Given the description of an element on the screen output the (x, y) to click on. 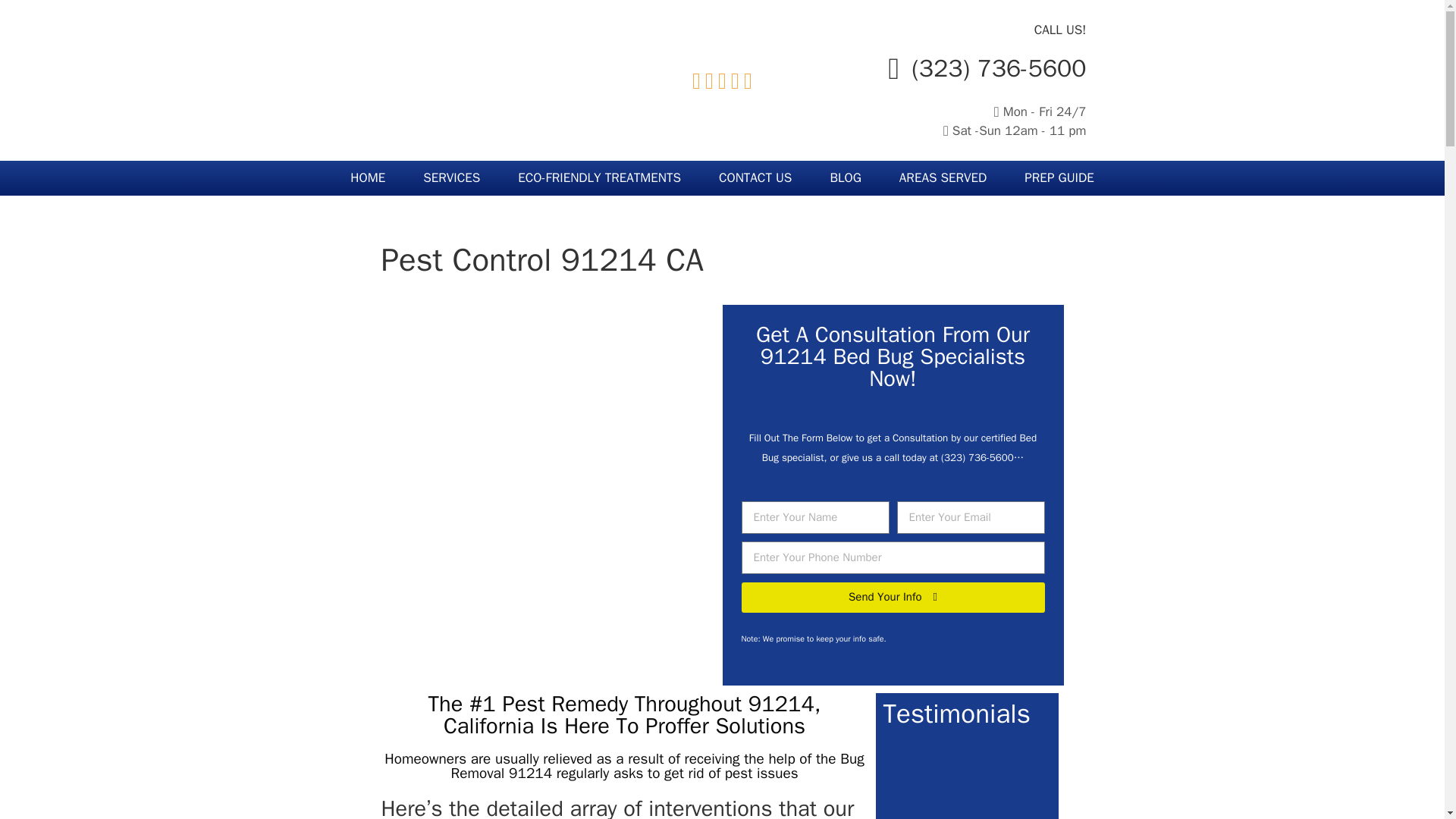
AREAS SERVED (943, 177)
BLOG (844, 177)
SERVICES (451, 177)
ECO-FRIENDLY TREATMENTS (599, 177)
CONTACT US (755, 177)
HOME (367, 177)
